Given the description of an element on the screen output the (x, y) to click on. 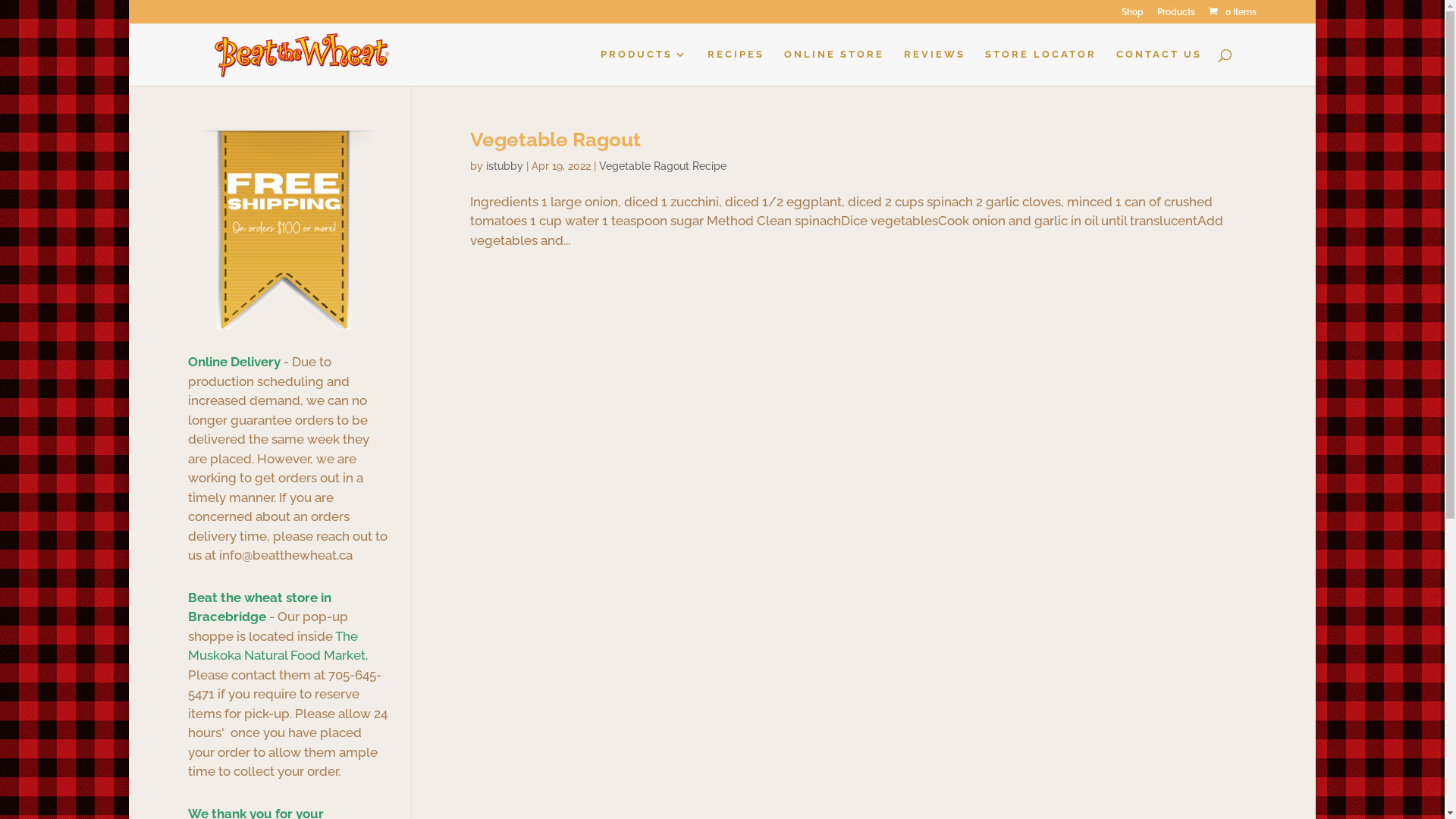
RECIPES Element type: text (735, 67)
istubby Element type: text (504, 166)
0 Items Element type: text (1231, 11)
Products Element type: text (1176, 15)
REVIEWS Element type: text (934, 67)
STORE LOCATOR Element type: text (1040, 67)
PRODUCTS Element type: text (643, 67)
Shop Element type: text (1132, 15)
Vegetable Ragout Element type: text (555, 139)
Vegetable Ragout Recipe Element type: text (662, 166)
CONTACT US Element type: text (1158, 67)
ONLINE STORE Element type: text (834, 67)
